Given the description of an element on the screen output the (x, y) to click on. 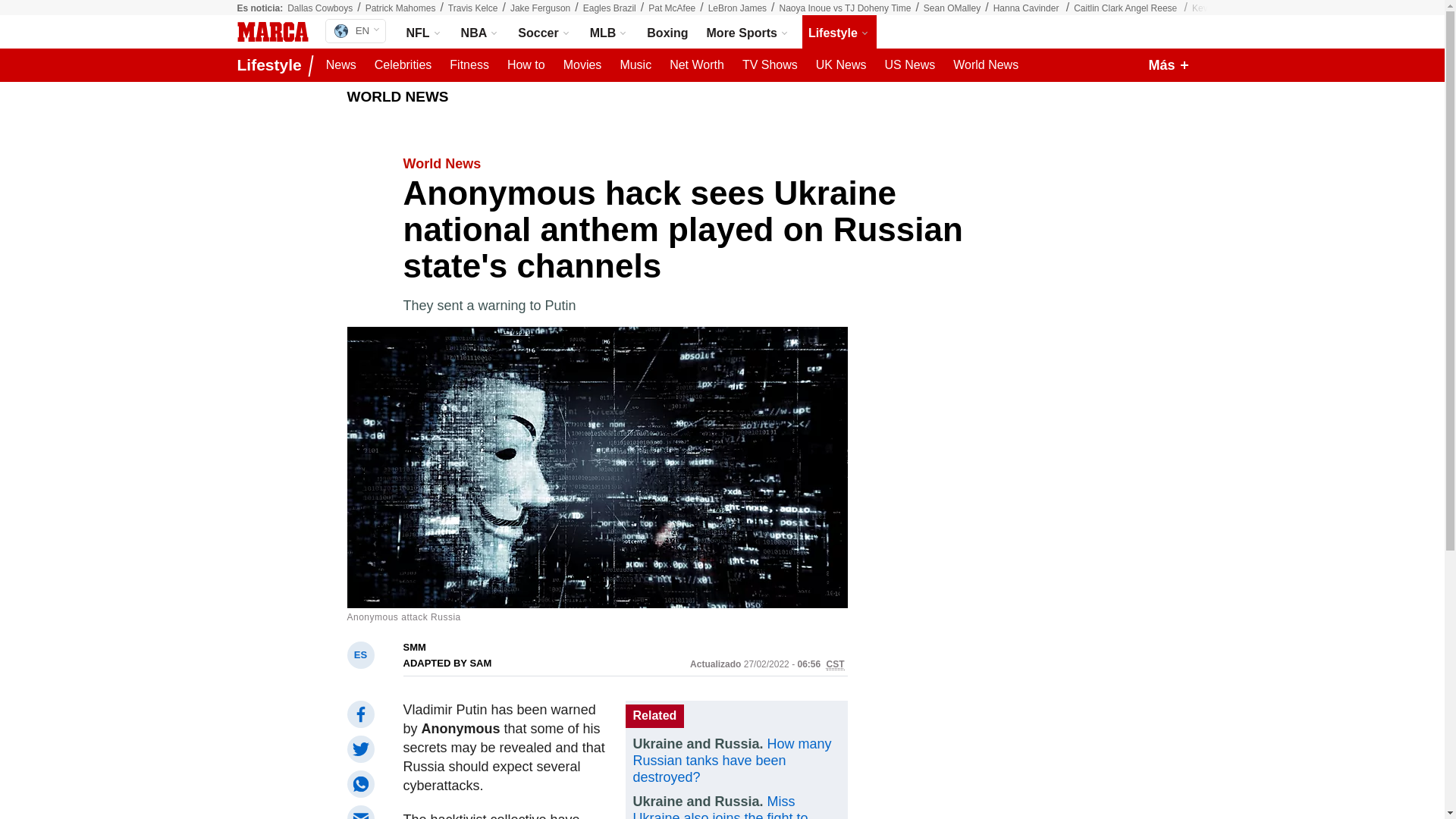
How to (525, 64)
Boxing (667, 31)
Fitness (469, 64)
News (341, 64)
US News (908, 64)
More Sports (748, 31)
Patrick Mahomes (400, 8)
News (341, 64)
Hanna Cavinder (1026, 8)
Music (635, 64)
